Given the description of an element on the screen output the (x, y) to click on. 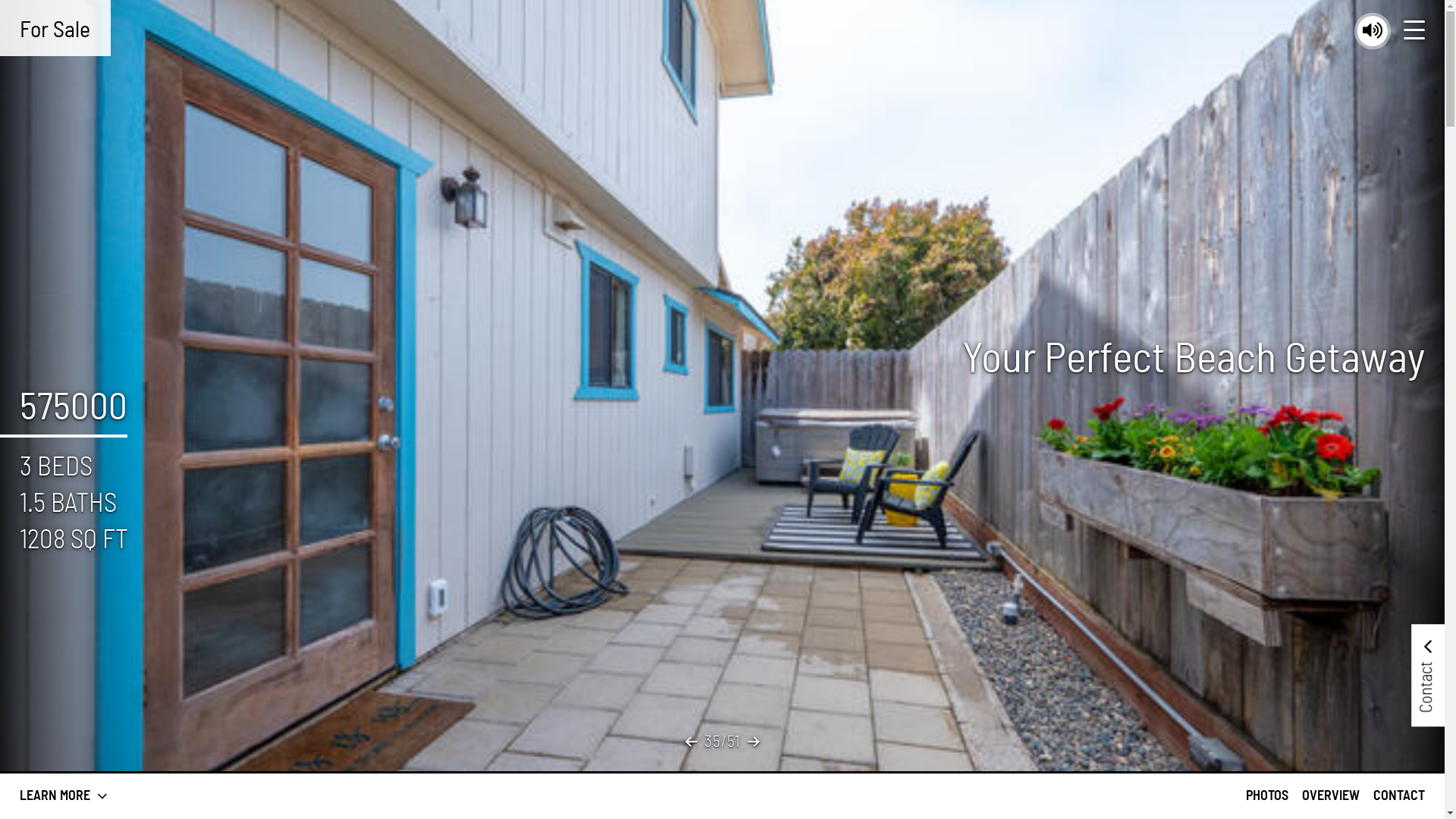
OVERVIEW Element type: text (1330, 796)
CONTACT Element type: text (1398, 796)
PHOTOS Element type: text (1266, 796)
